Given the description of an element on the screen output the (x, y) to click on. 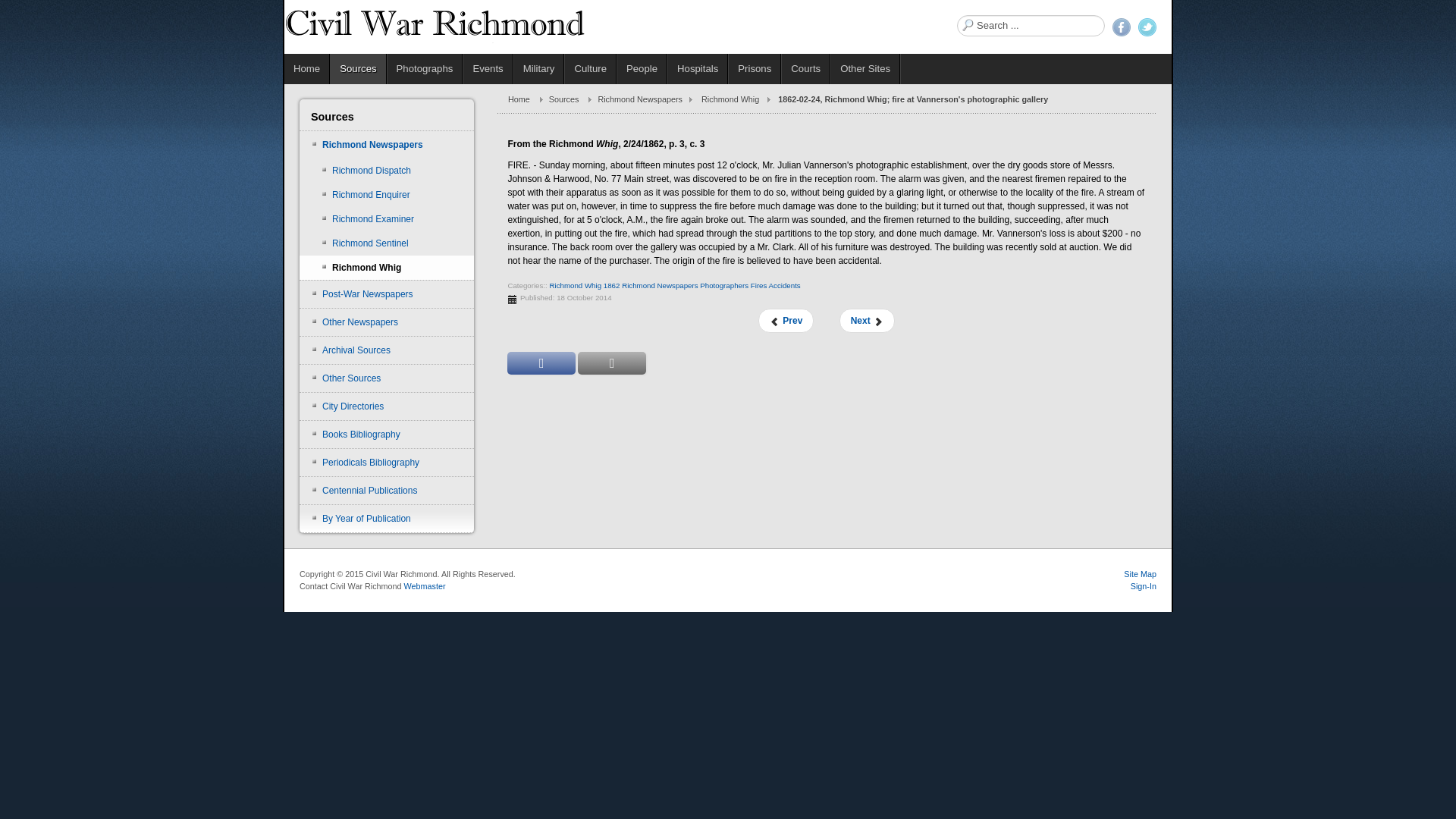
Richmond Newspapers (659, 285)
Military (538, 69)
Other Sites (865, 69)
Prisons (754, 69)
People (641, 69)
Search ... (1030, 25)
Post-War Newspapers (386, 293)
Sources (357, 69)
Twitter (1147, 27)
Sources (573, 99)
